Given the description of an element on the screen output the (x, y) to click on. 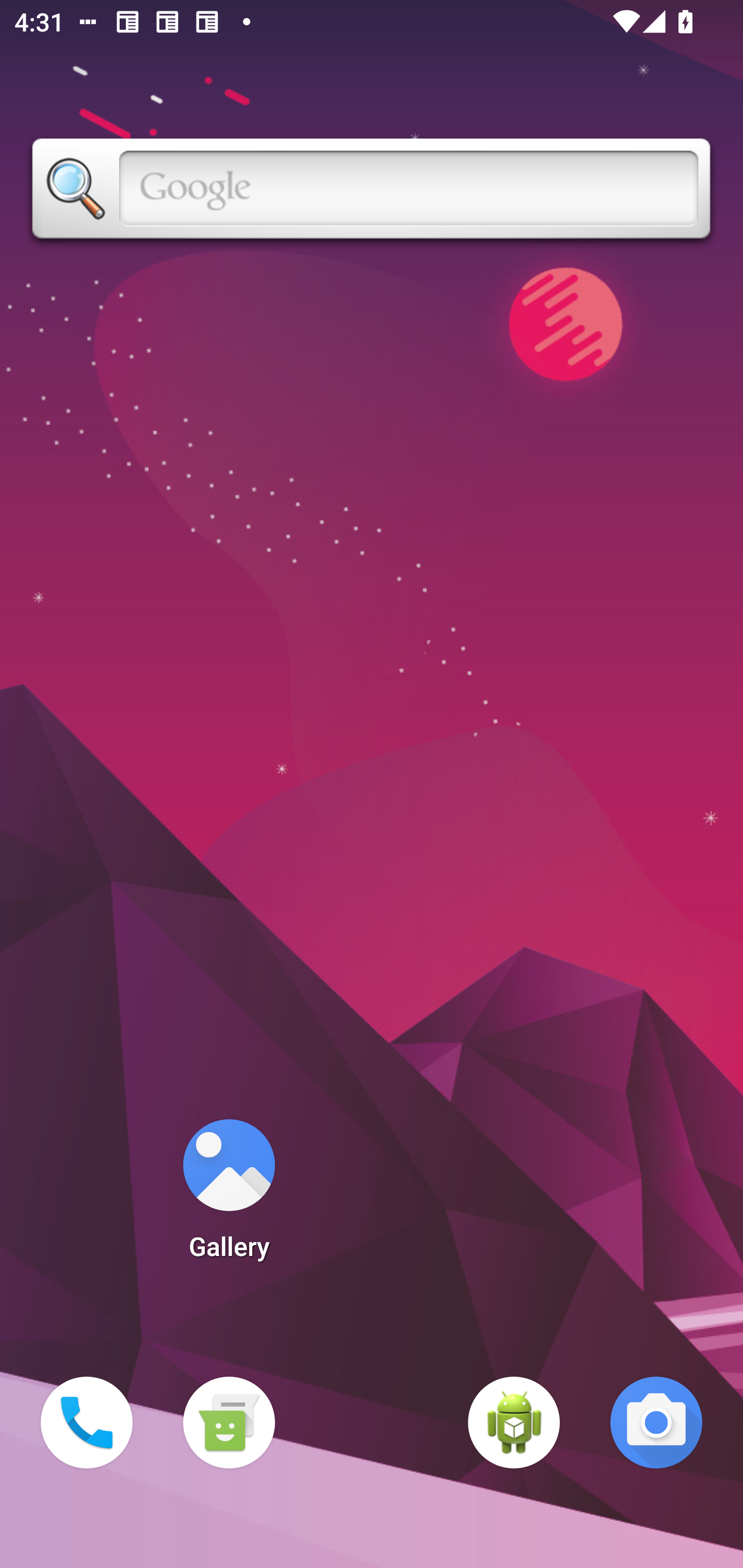
Gallery (228, 1195)
Phone (86, 1422)
Messaging (228, 1422)
WebView Browser Tester (513, 1422)
Camera (656, 1422)
